Given the description of an element on the screen output the (x, y) to click on. 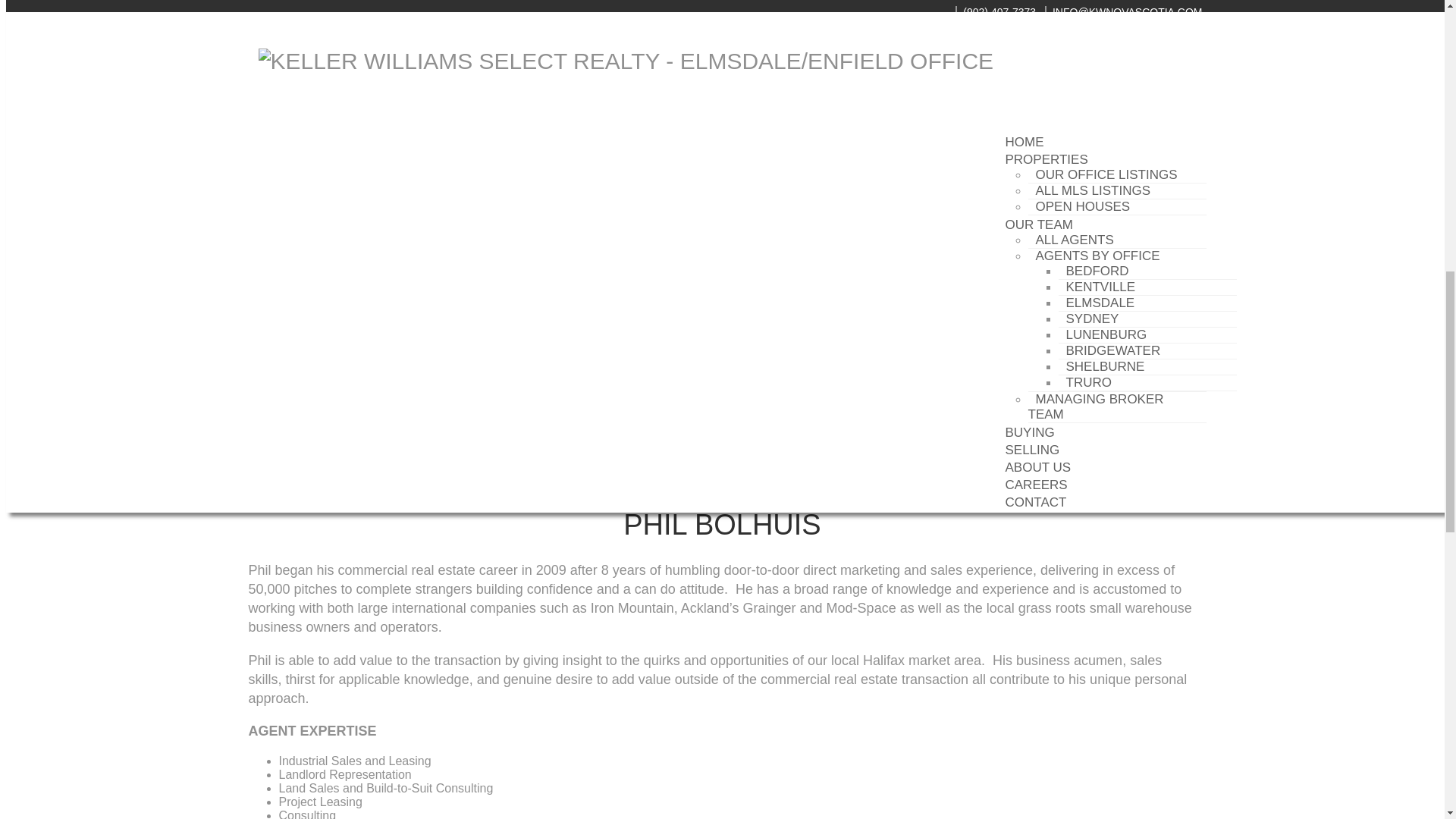
Listings (268, 481)
Biography (275, 454)
Website (270, 440)
902-407-2468 (312, 427)
902-293-4524 (315, 413)
902-293-4524 (314, 400)
Contact (268, 468)
